Given the description of an element on the screen output the (x, y) to click on. 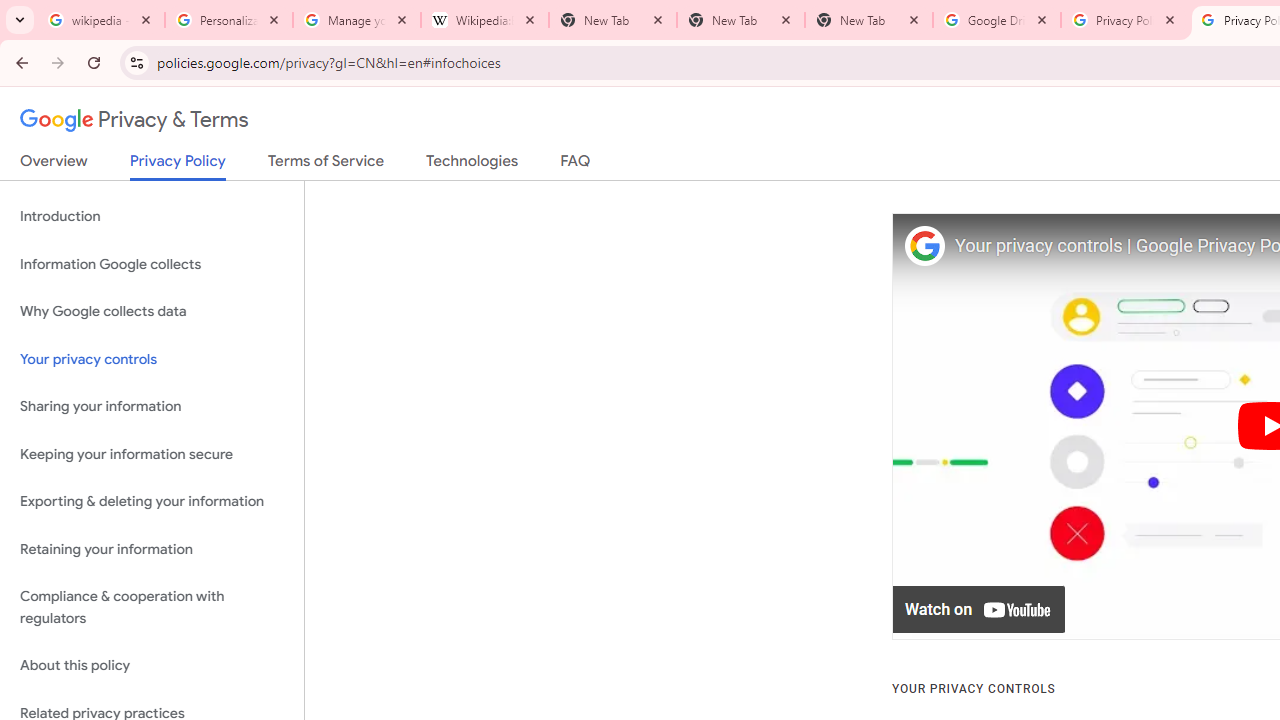
Personalization & Google Search results - Google Search Help (229, 20)
New Tab (741, 20)
Your privacy controls (152, 358)
Introduction (152, 216)
Privacy & Terms (134, 120)
Exporting & deleting your information (152, 502)
Retaining your information (152, 548)
Manage your Location History - Google Search Help (357, 20)
About this policy (152, 666)
